Given the description of an element on the screen output the (x, y) to click on. 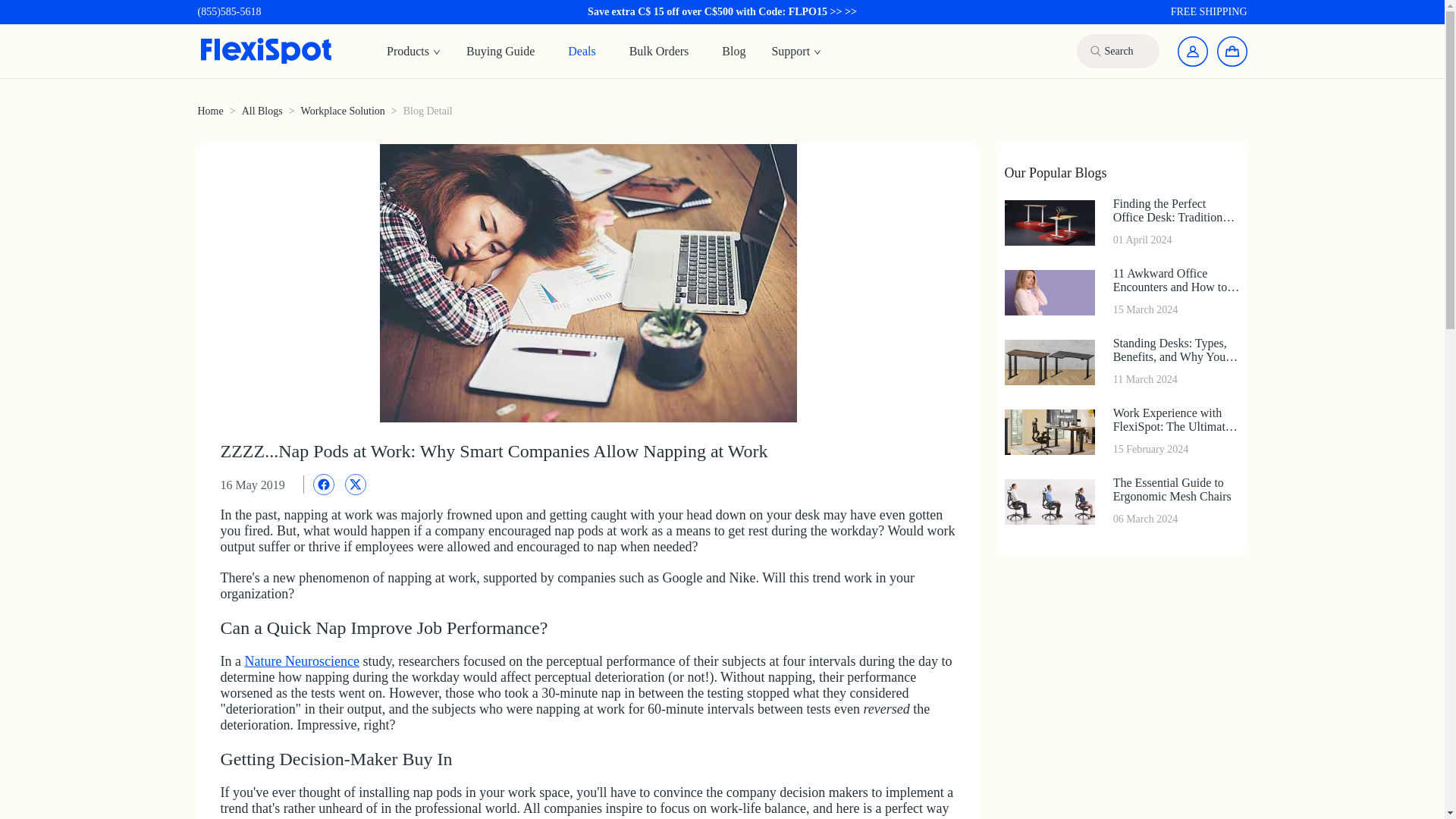
Bulk Orders (659, 50)
Deals (581, 50)
Buying Guide (499, 50)
Products (1121, 501)
Blog (413, 51)
Nature Neuroscience (733, 50)
All Blogs (301, 661)
